Given the description of an element on the screen output the (x, y) to click on. 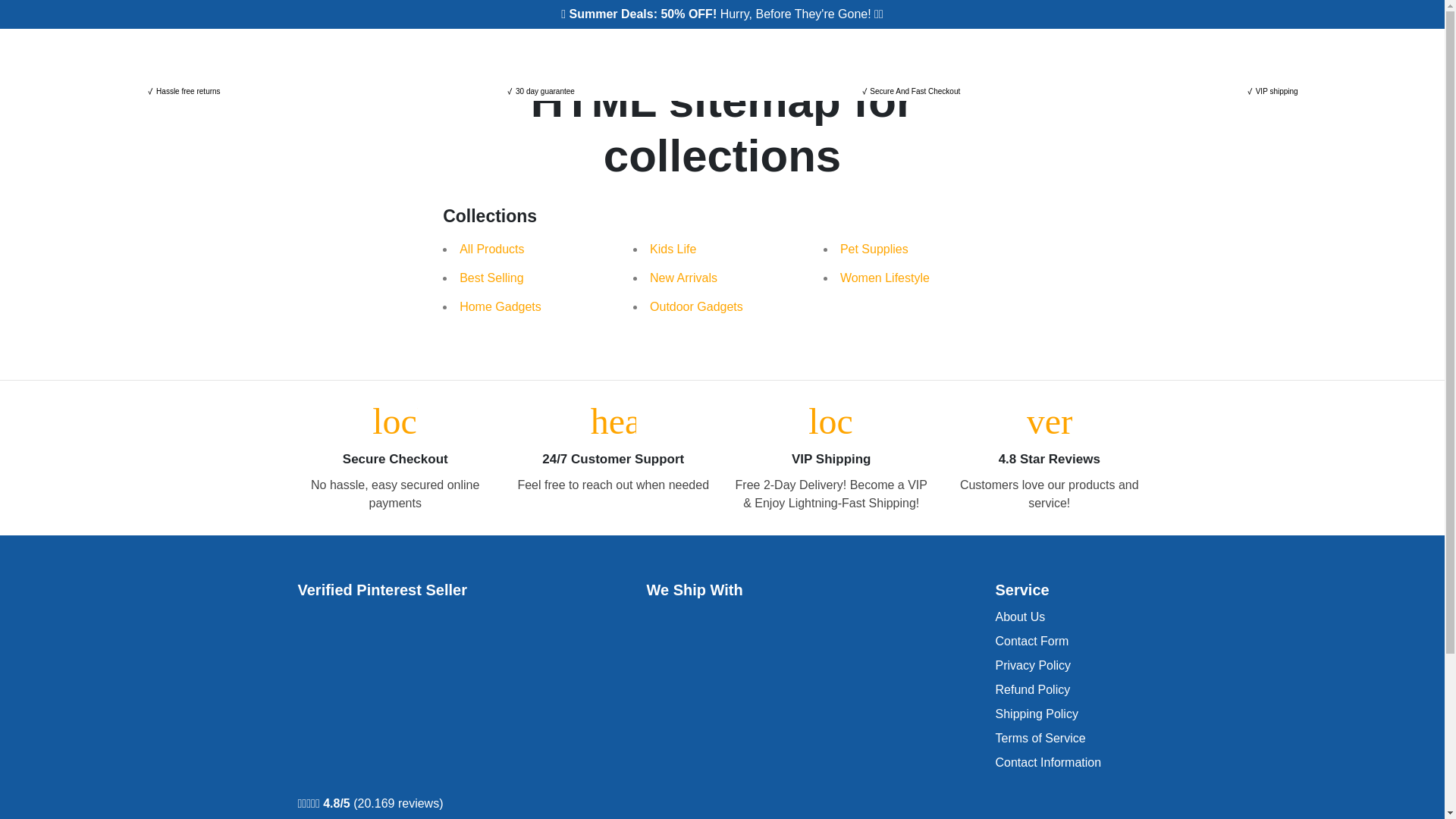
Shop (558, 54)
Outdoor Gadgets (695, 306)
Search (1028, 54)
About Us (1019, 617)
Home (510, 54)
Log In (939, 54)
Track Order (791, 54)
Best Selling (492, 277)
Home Gadgets (500, 306)
Pet Supplies (874, 248)
New Arrivals (625, 54)
Cart (1102, 54)
Women Lifestyle (885, 277)
search (1028, 54)
